Given the description of an element on the screen output the (x, y) to click on. 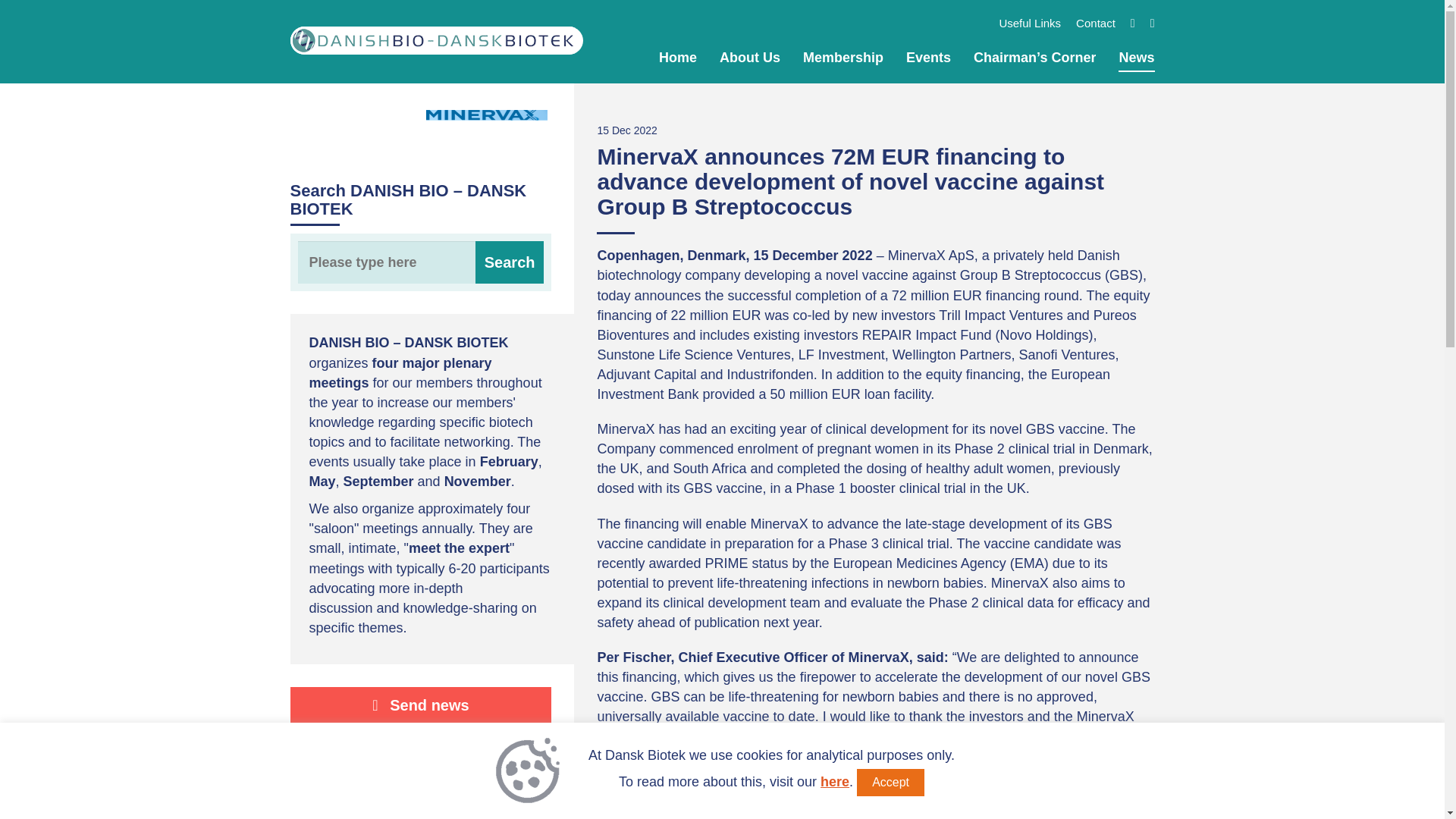
Search (510, 261)
About Us (749, 57)
Events (927, 57)
Accept (890, 782)
Please type here (420, 261)
Membership (843, 57)
Useful Links (1029, 23)
News (1136, 57)
Contact (1095, 23)
here (834, 781)
Send news (420, 705)
Search (510, 261)
Search (510, 261)
Home (678, 57)
